Given the description of an element on the screen output the (x, y) to click on. 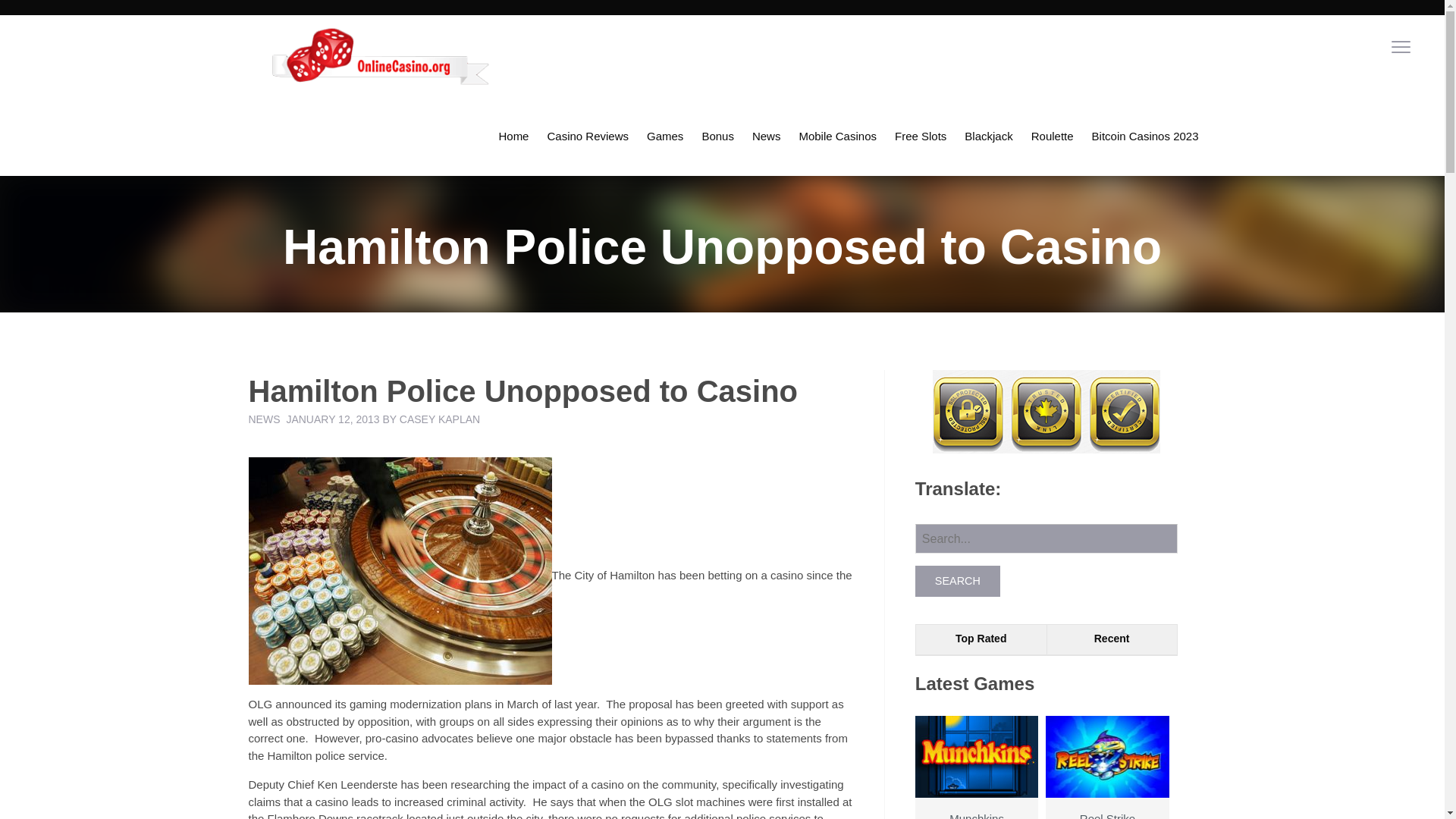
Bitcoin Casinos 2023 (1145, 136)
Online Casino Reviews (587, 136)
mobile casinos (837, 136)
Casino Reviews (587, 136)
Search (957, 580)
Posts by Casey Kaplan (439, 419)
NEWS (264, 419)
Reel Strike (1107, 784)
Munchkins (976, 784)
CASEY KAPLAN (439, 419)
Search (957, 580)
Mobile Casinos (837, 136)
Search for: (1046, 538)
